Given the description of an element on the screen output the (x, y) to click on. 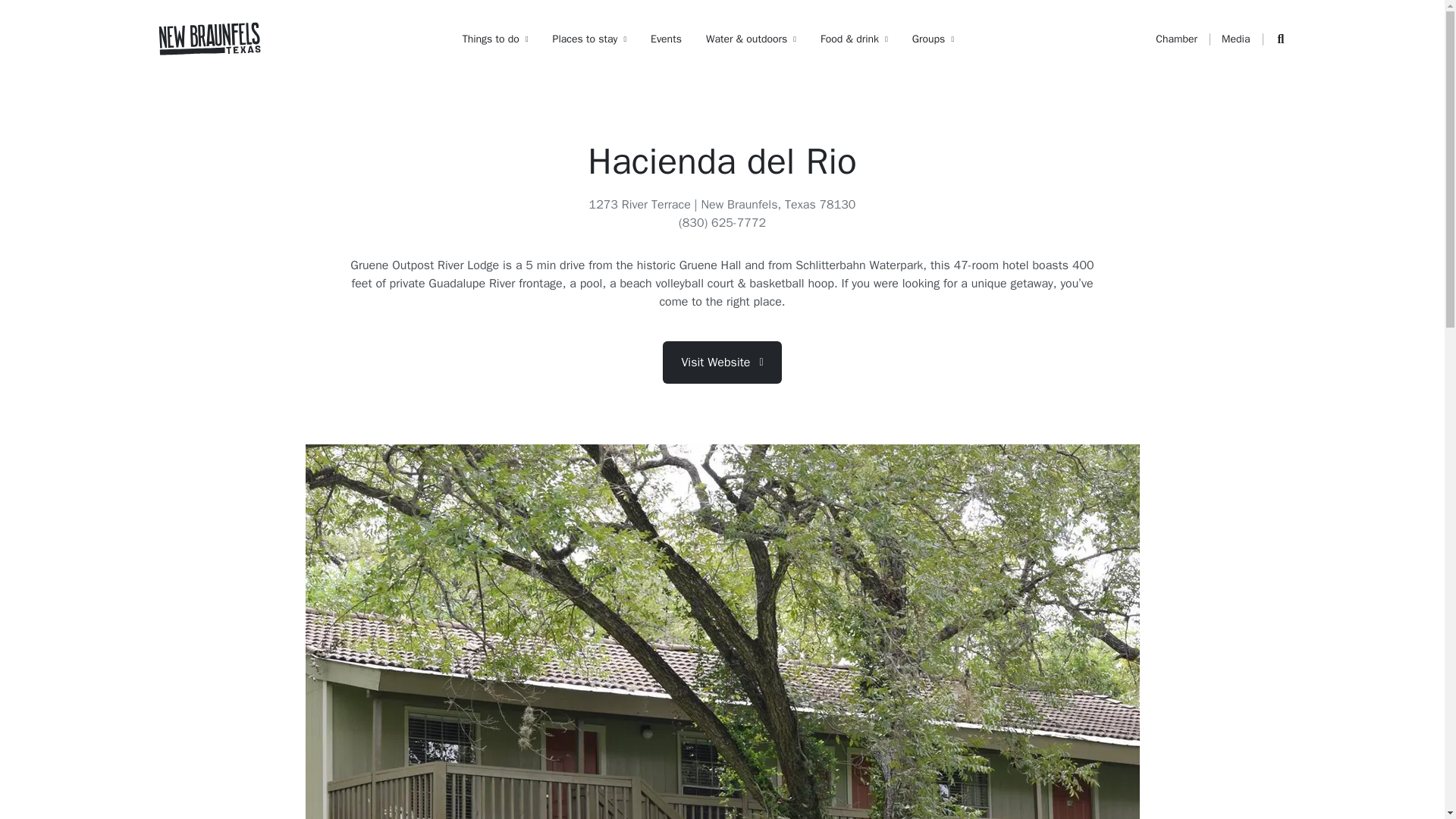
Places to stay (590, 39)
Things to do (495, 39)
Groups (932, 39)
Media (1235, 39)
Events (665, 39)
Chamber (1176, 39)
Visit Website (721, 362)
